Given the description of an element on the screen output the (x, y) to click on. 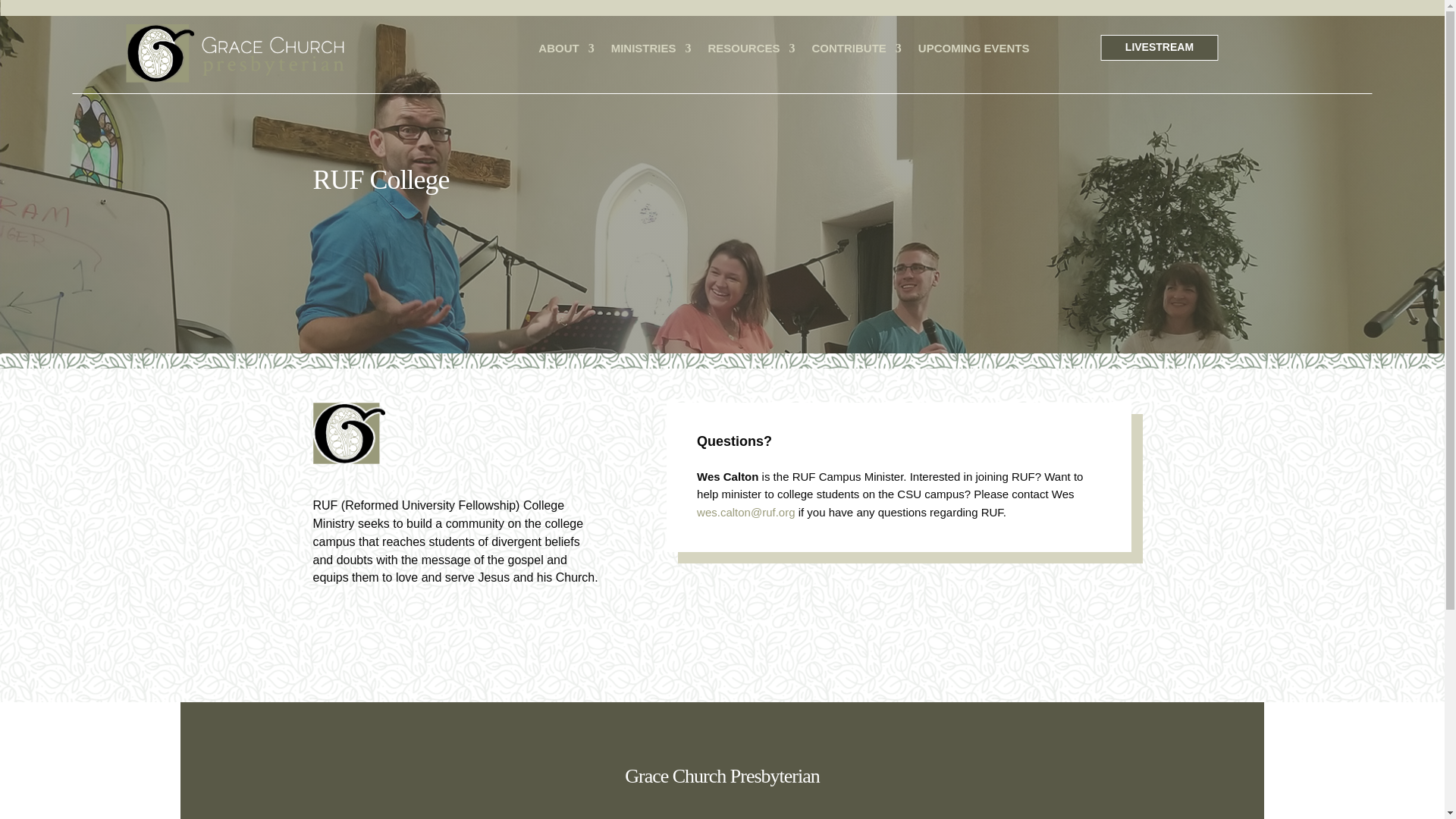
CONTRIBUTE (856, 53)
Asset 15 (348, 433)
LIVESTREAM (1158, 47)
MINISTRIES (651, 53)
RESOURCES (750, 53)
UPCOMING EVENTS (973, 53)
ABOUT (566, 53)
